Given the description of an element on the screen output the (x, y) to click on. 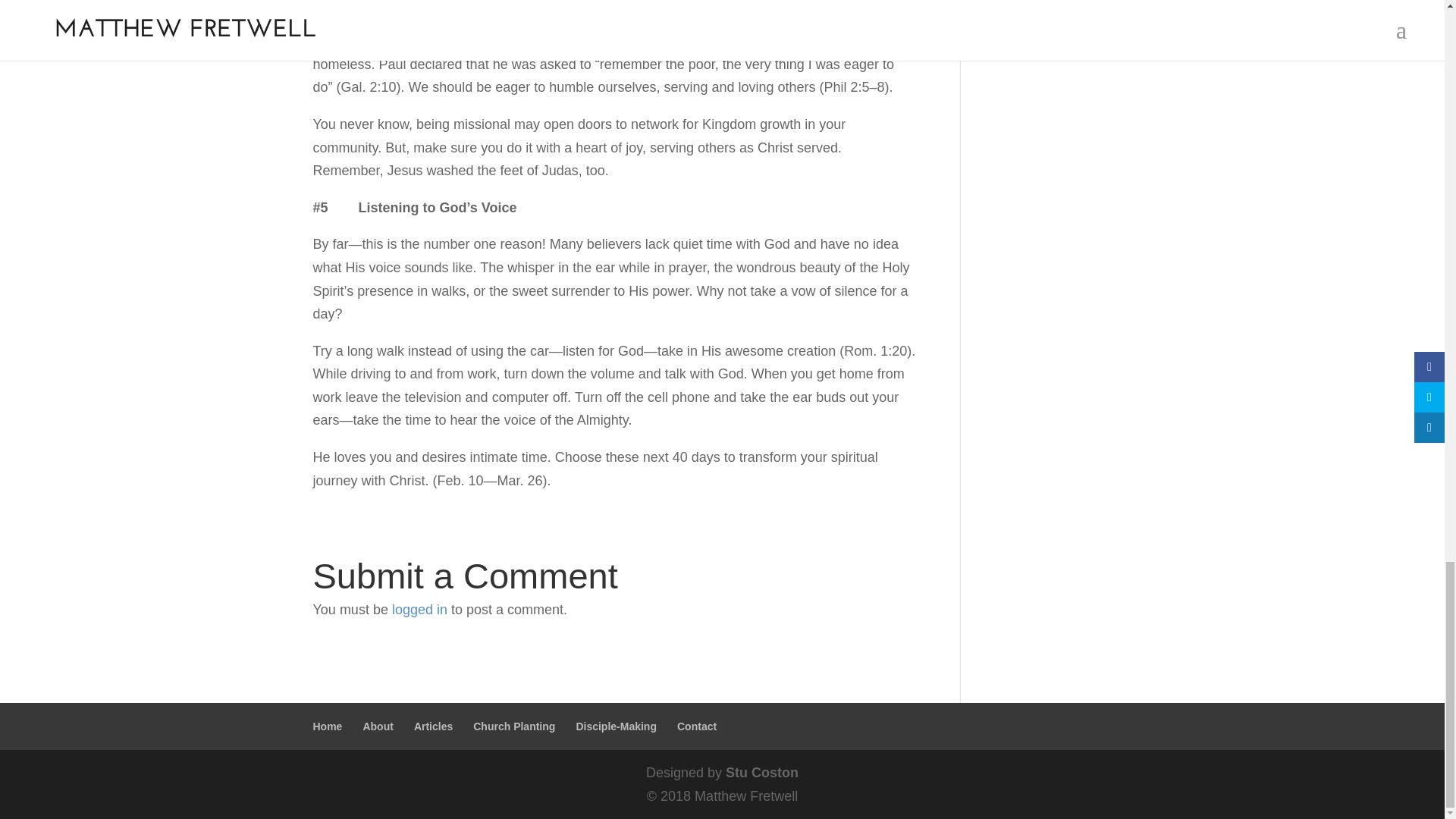
Stu Coston (761, 772)
Church Planting (513, 726)
Disciple-Making (615, 726)
Articles (432, 726)
Home (327, 726)
Contact (696, 726)
logged in (418, 609)
About (377, 726)
